Given the description of an element on the screen output the (x, y) to click on. 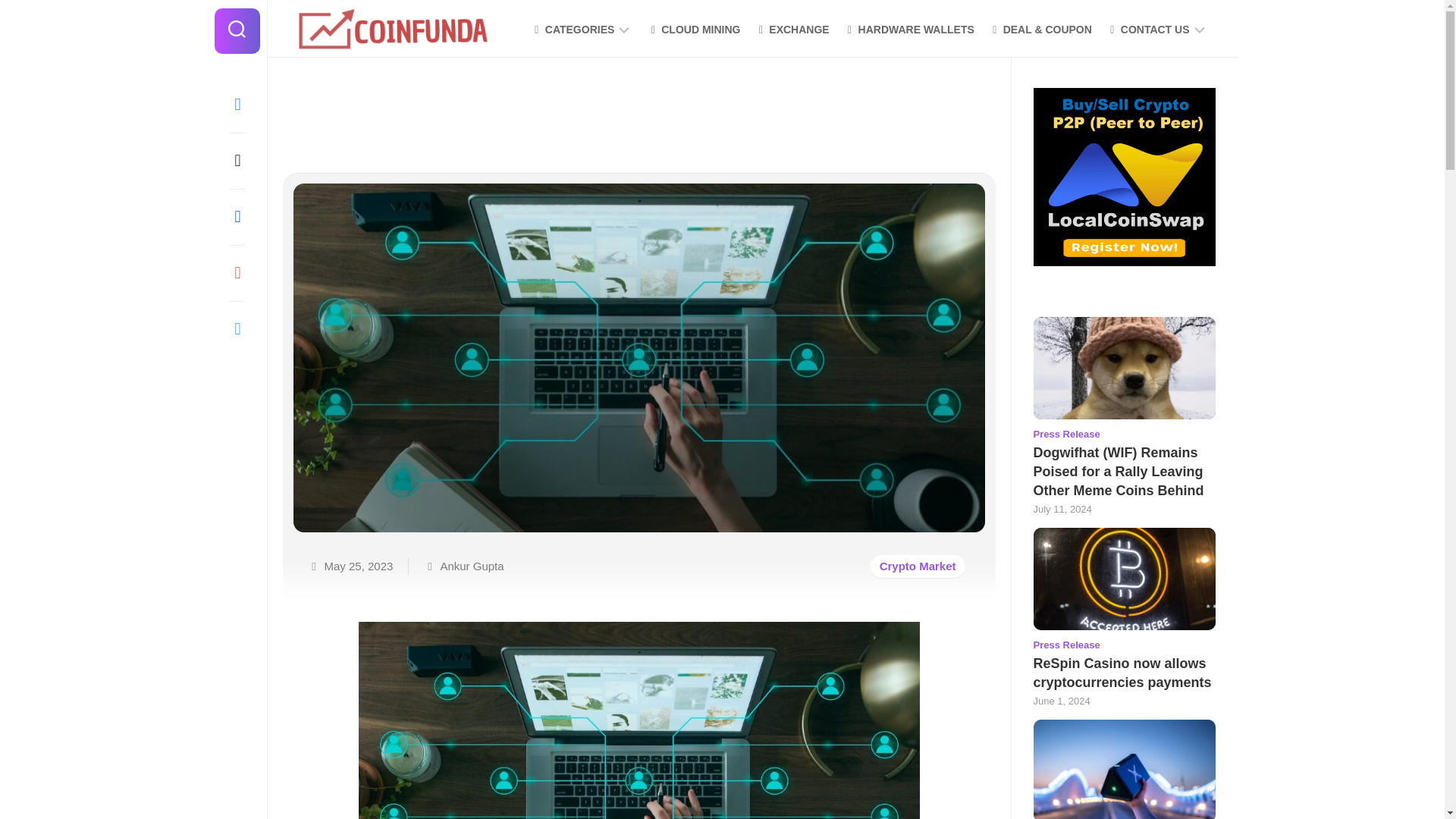
Posts by Ankur Gupta (471, 565)
Crypto Market (917, 566)
CATEGORIES (572, 29)
How To Grow Popularity Of Your Web3 Or AI Company? 1 (638, 720)
Ankur Gupta (471, 565)
ReSpin Casino now allows cryptocurrencies payments 6 (1123, 578)
EXCHANGE (791, 29)
CLOUD MINING (693, 29)
HARDWARE WALLETS (909, 29)
CONTACT US (1147, 29)
